Given the description of an element on the screen output the (x, y) to click on. 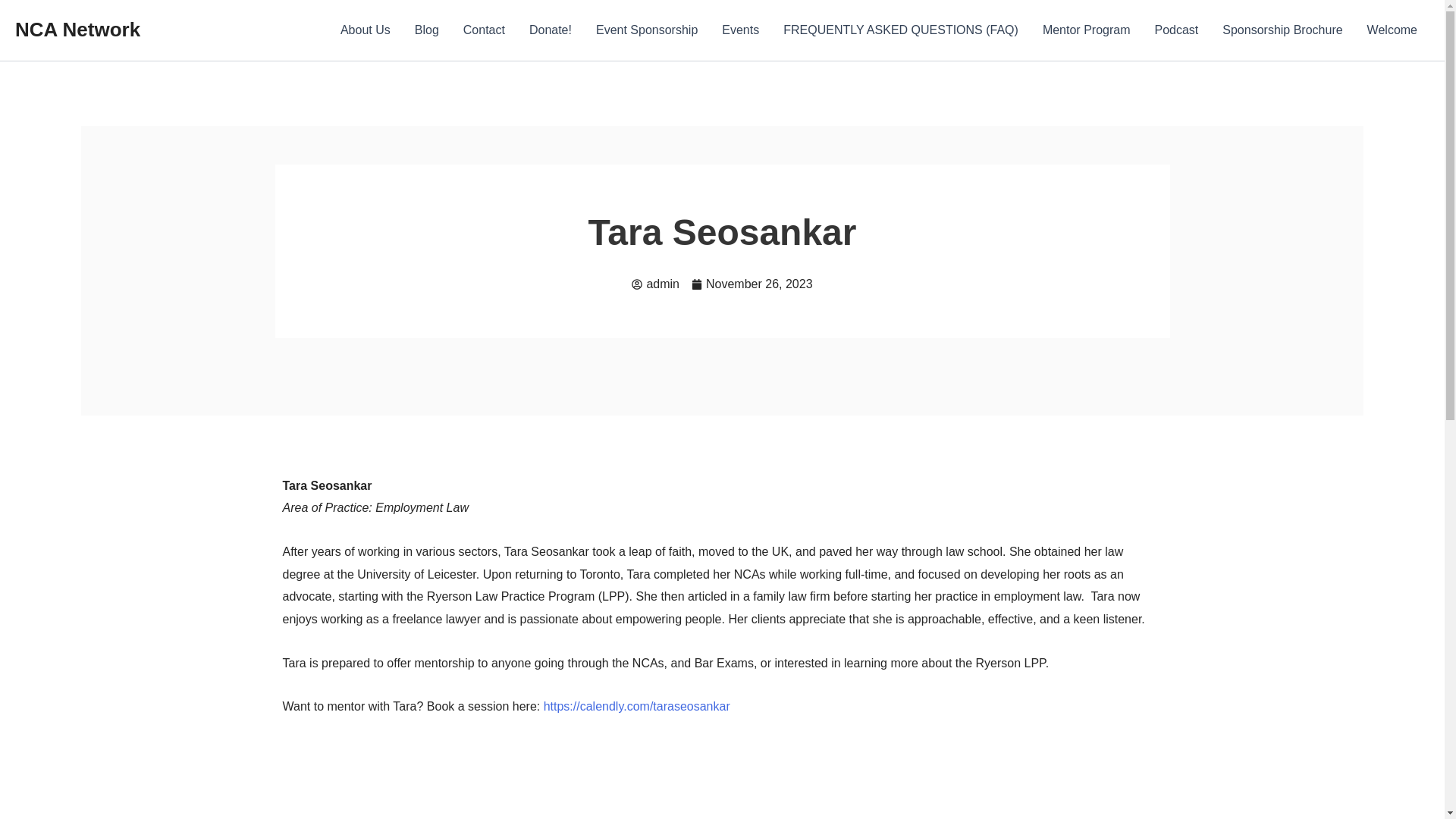
November 26, 2023 (751, 283)
Donate! (549, 30)
Event Sponsorship (646, 30)
Sponsorship Brochure (1281, 30)
Podcast (1175, 30)
Events (740, 30)
NCA Network (76, 29)
Contact (483, 30)
Mentor Program (1086, 30)
About Us (366, 30)
